Given the description of an element on the screen output the (x, y) to click on. 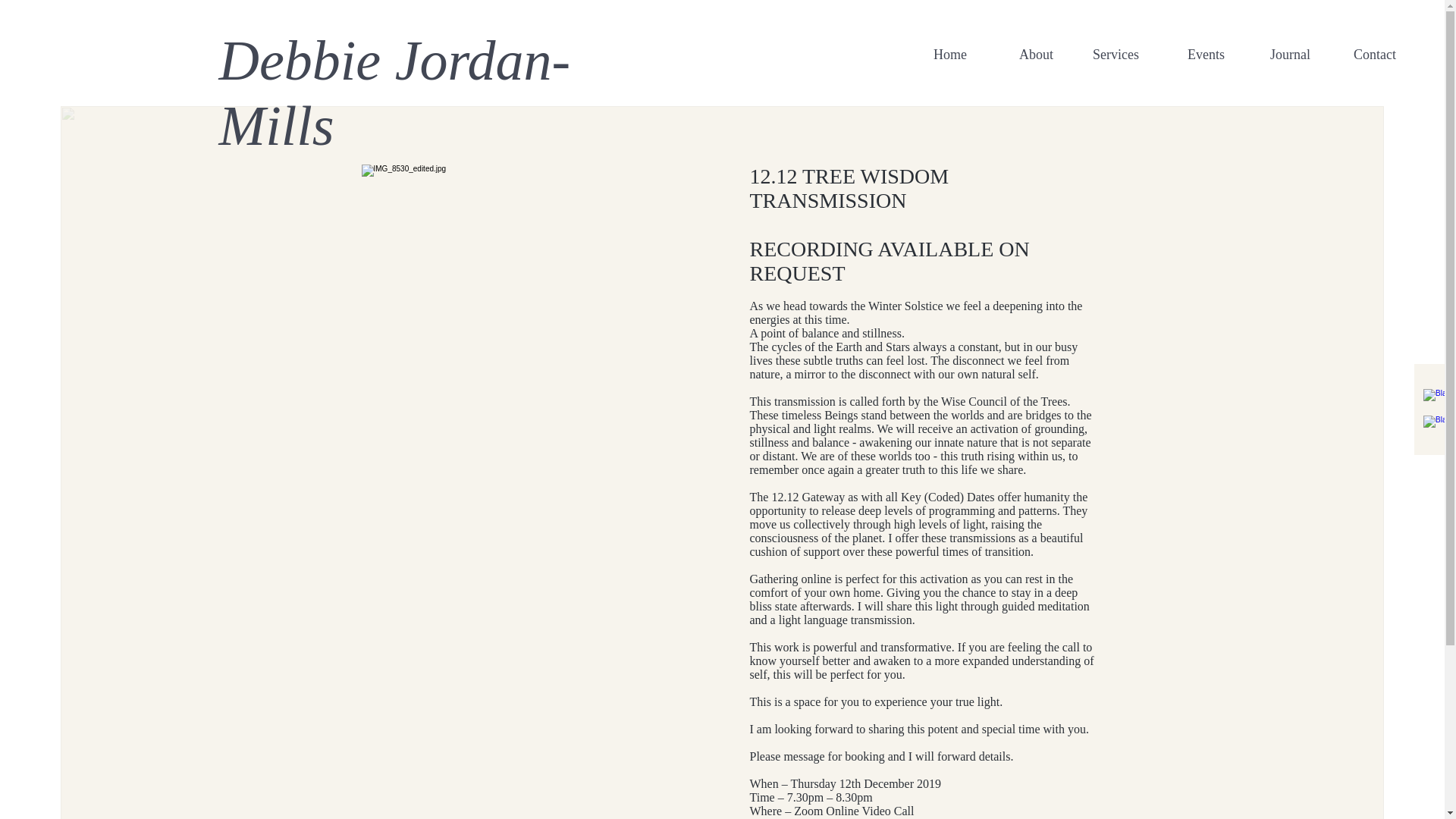
Journal (1279, 54)
Contact (1364, 54)
Services (1107, 54)
Events (1193, 54)
Home (934, 54)
About (1021, 54)
Debbie Jordan-Mills (394, 93)
